Given the description of an element on the screen output the (x, y) to click on. 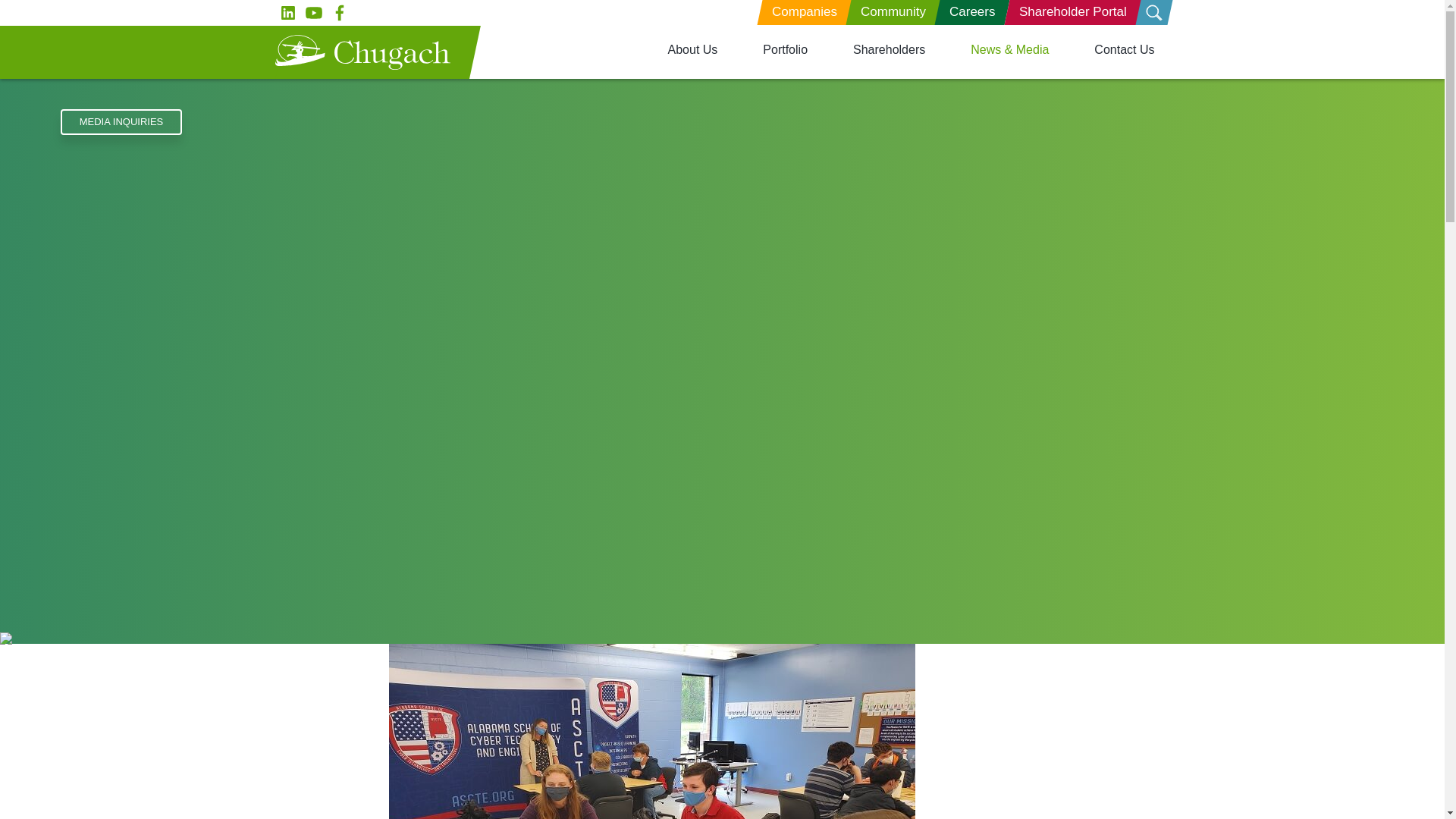
Portfolio (785, 49)
Shareholder Portal (1069, 12)
Linkedin (287, 12)
Community (890, 12)
Careers (969, 12)
About Us (692, 49)
Companies (802, 12)
Chugach Corp (362, 52)
Youtube (312, 12)
Search (1151, 12)
